Given the description of an element on the screen output the (x, y) to click on. 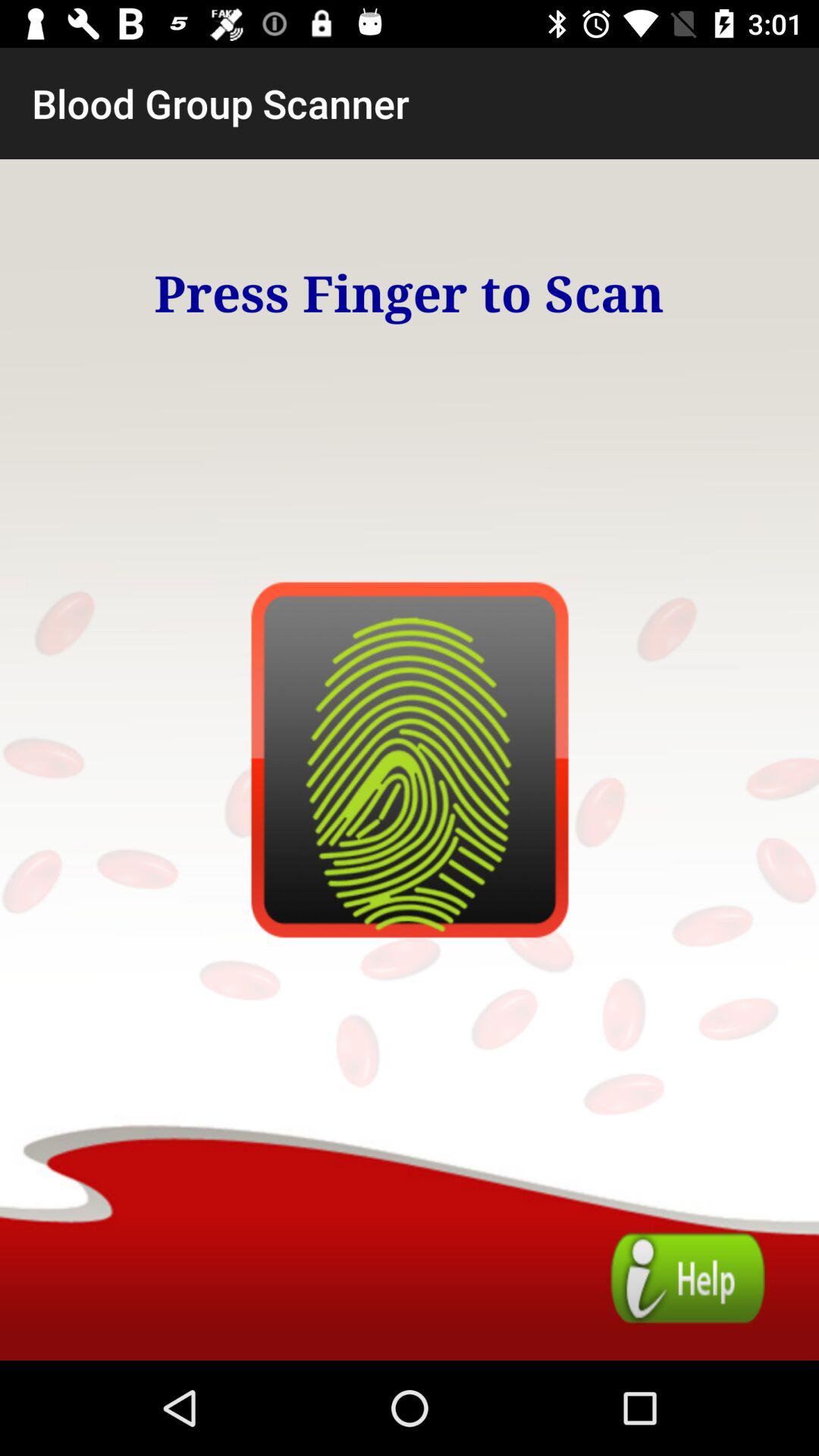
click help option (687, 1278)
